Given the description of an element on the screen output the (x, y) to click on. 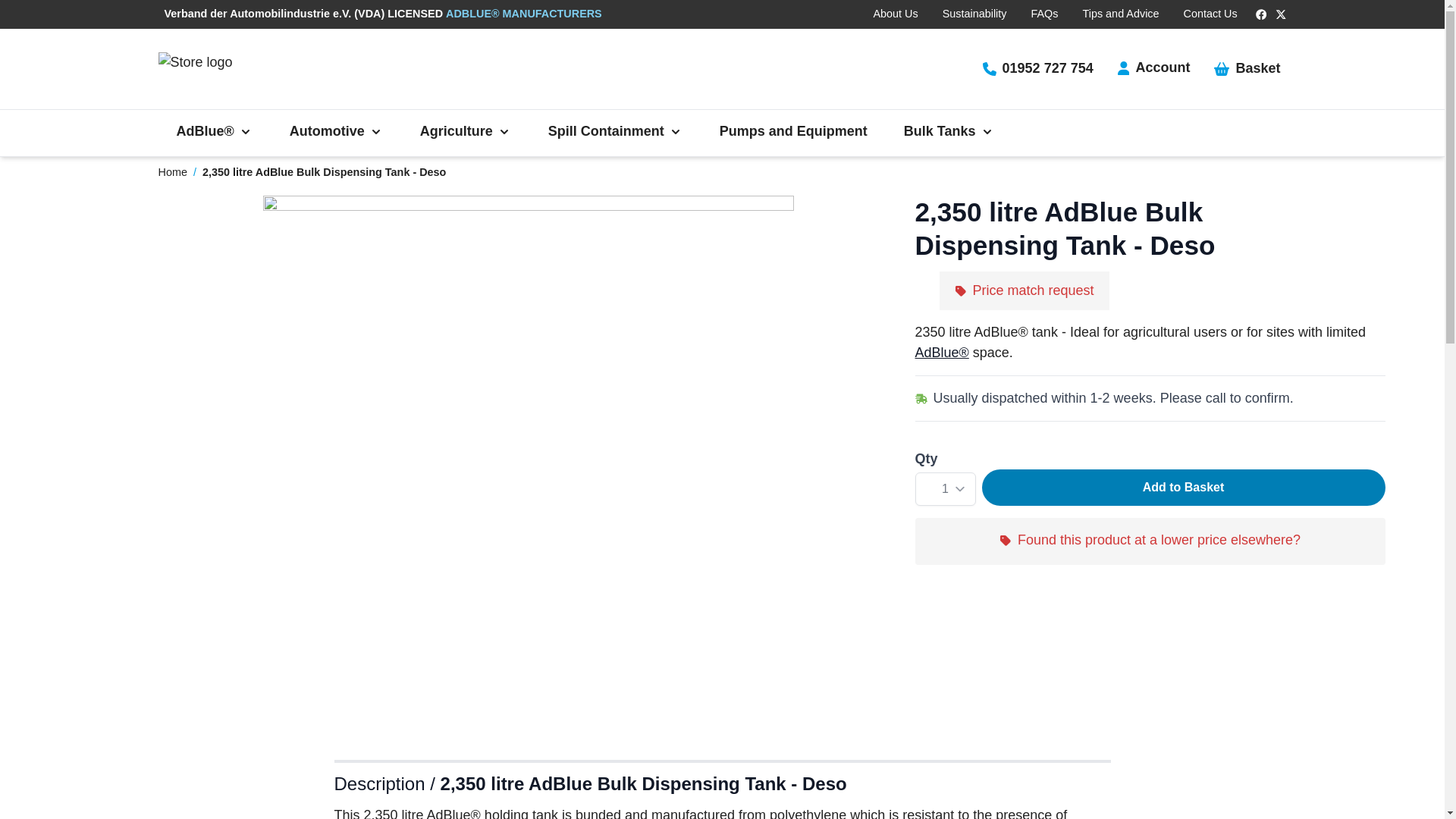
Sustainability (974, 14)
Account (1154, 67)
Basket (1246, 68)
Cart (1246, 68)
01952 727 754 (1037, 68)
About Us (895, 14)
Tips and Advice (1120, 14)
Contact Us (1210, 14)
Find us on Twitter (1280, 14)
FAQs (1043, 14)
